Given the description of an element on the screen output the (x, y) to click on. 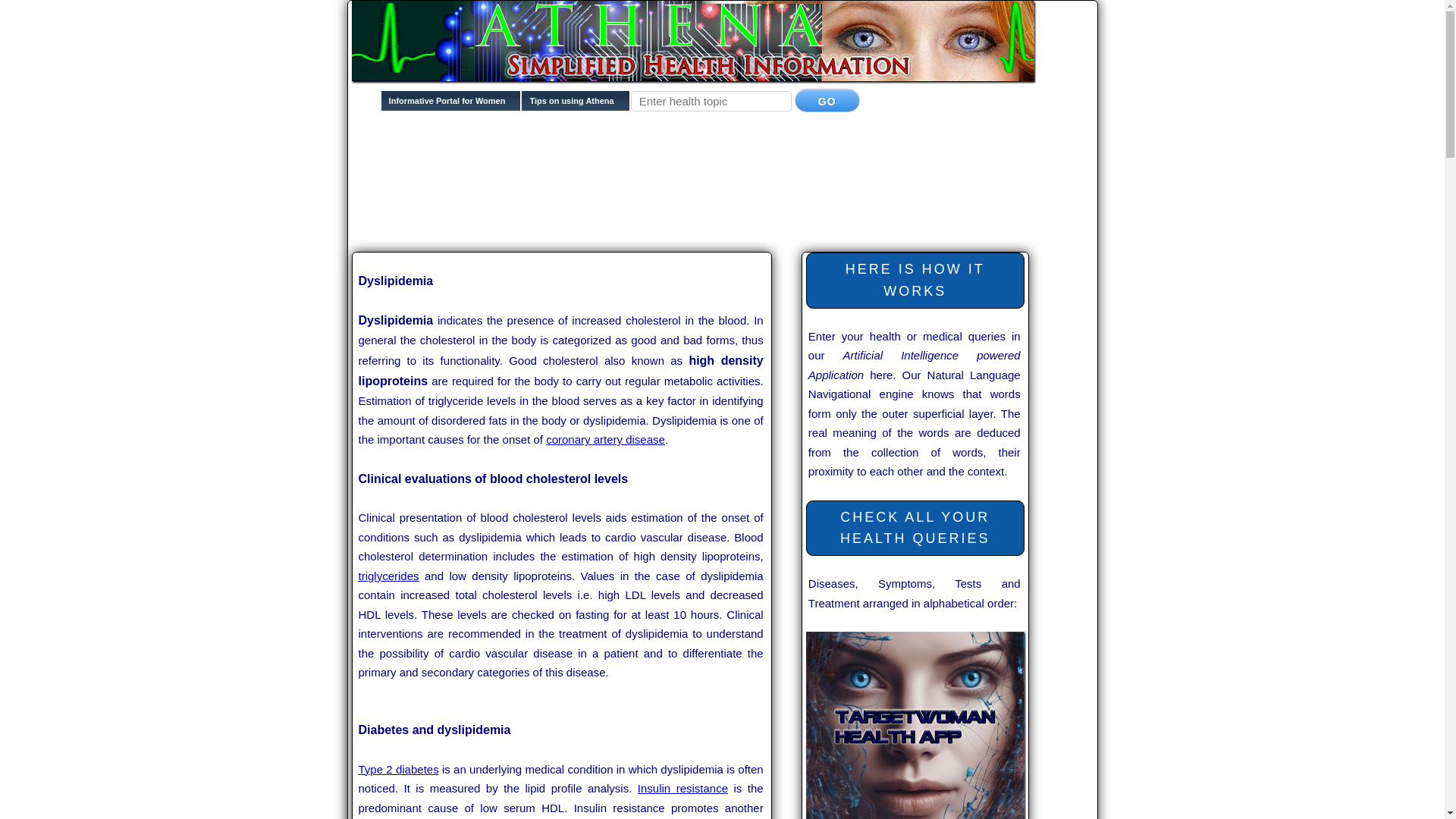
Advertisement (628, 175)
Insulin resistance (682, 788)
coronary artery disease (605, 439)
Informative Portal for Women (451, 104)
Go (827, 100)
triglycerides (388, 575)
Information Portal for Women - Targetwoman (451, 104)
Tips on using TargetWoman Condensed Health Information Tool (574, 104)
Type 2 diabetes (398, 768)
Advertisement (628, 222)
Go (827, 100)
Tips on using Athena (574, 104)
